Given the description of an element on the screen output the (x, y) to click on. 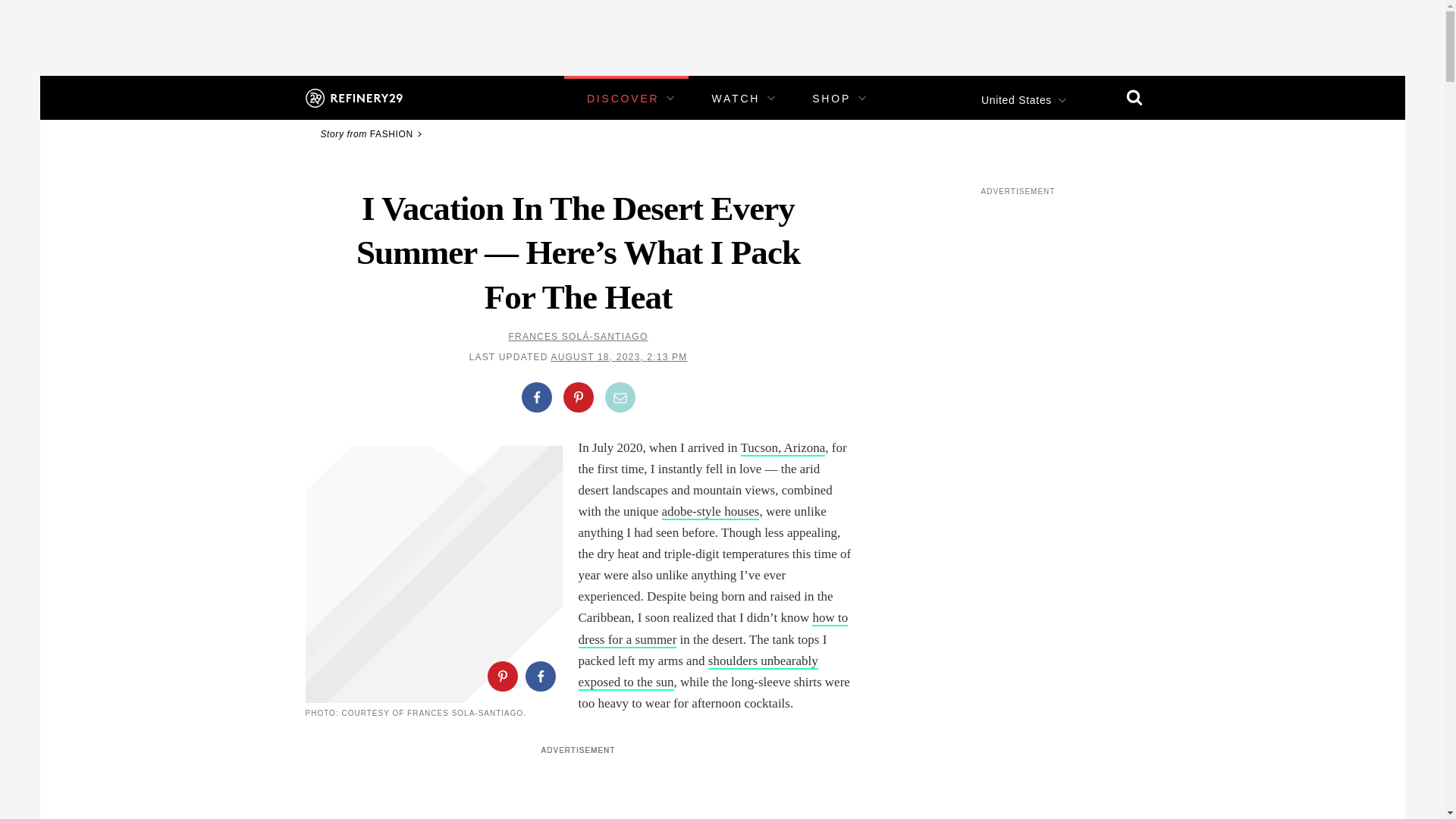
Story from FASHION (373, 133)
Share by Email (619, 397)
WATCH (735, 98)
SHOP (831, 98)
how to dress for a summer (712, 628)
shoulders unbearably exposed to the sun (697, 672)
Share on Pinterest (577, 397)
AUGUST 18, 2023, 2:13 PM (618, 357)
adobe-style houses (711, 512)
Refinery29 (352, 97)
DISCOVER (622, 98)
Tucson, Arizona (783, 448)
Share on Pinterest (501, 675)
